Given the description of an element on the screen output the (x, y) to click on. 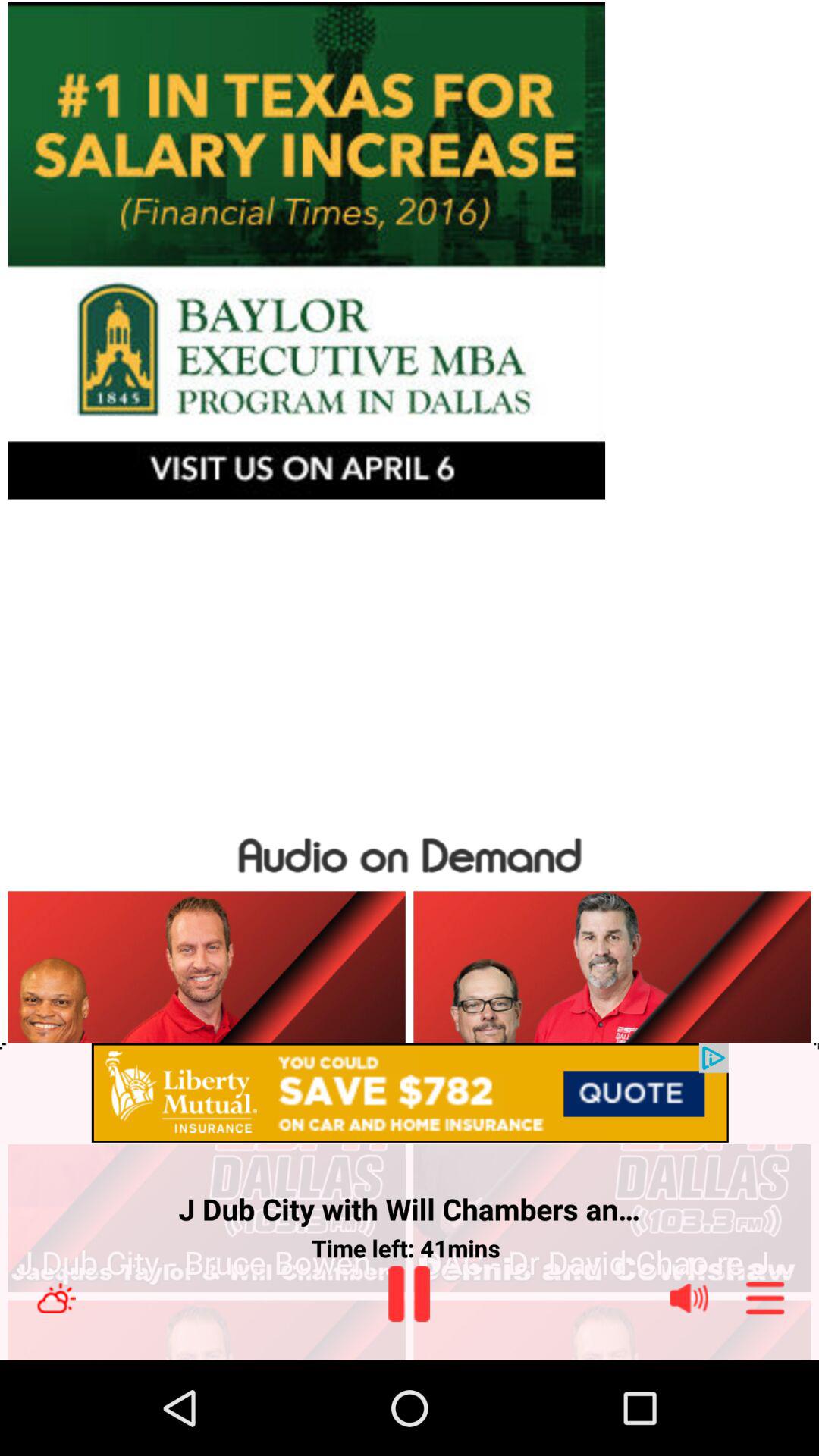
visit this page (409, 250)
